Given the description of an element on the screen output the (x, y) to click on. 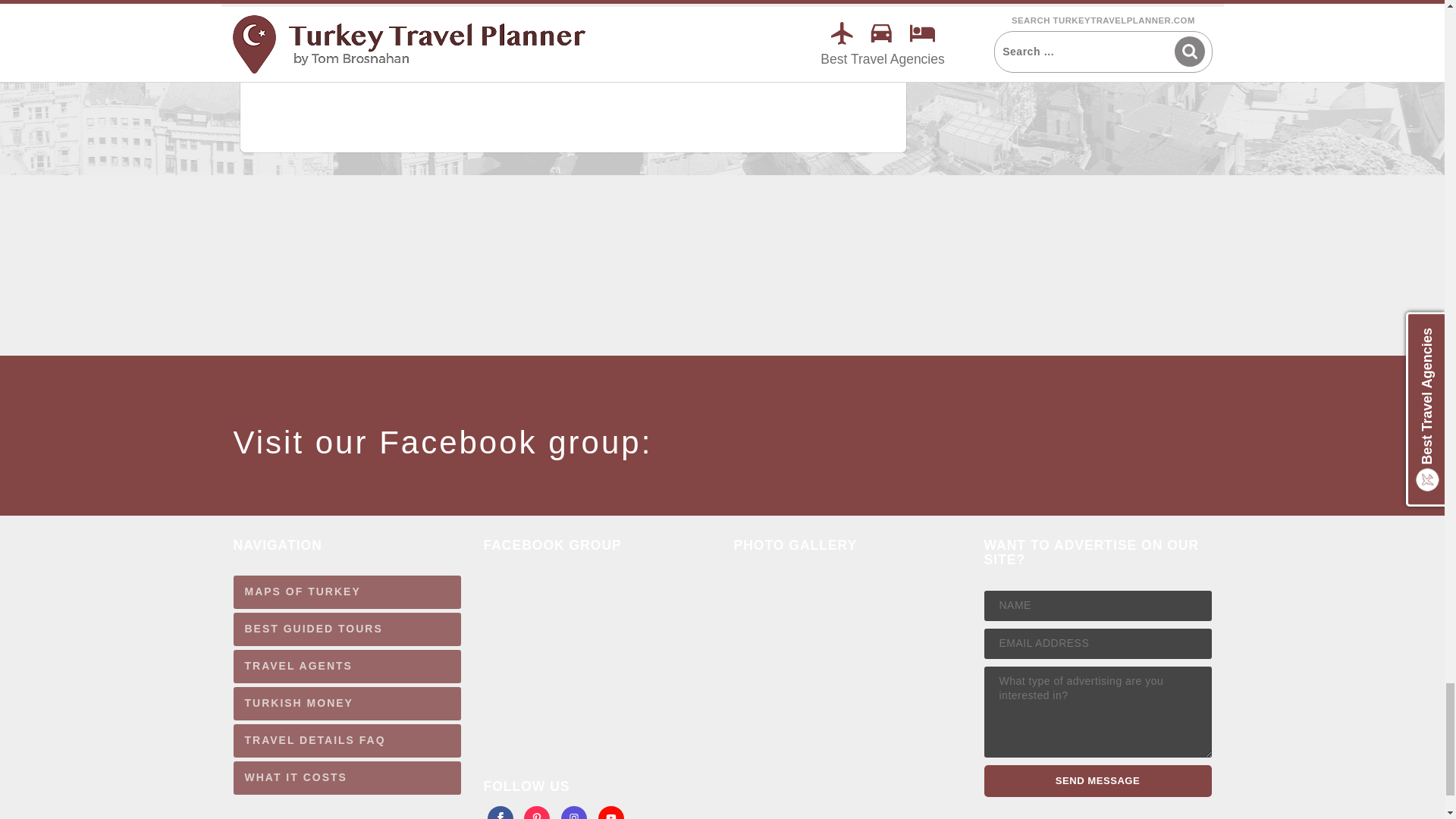
SEND MESSAGE (1097, 780)
FACEBOOK GROUP (585, 665)
top 5 wineries to visit in Turkey (412, 64)
PHOTO GALLERY (836, 678)
